Given the description of an element on the screen output the (x, y) to click on. 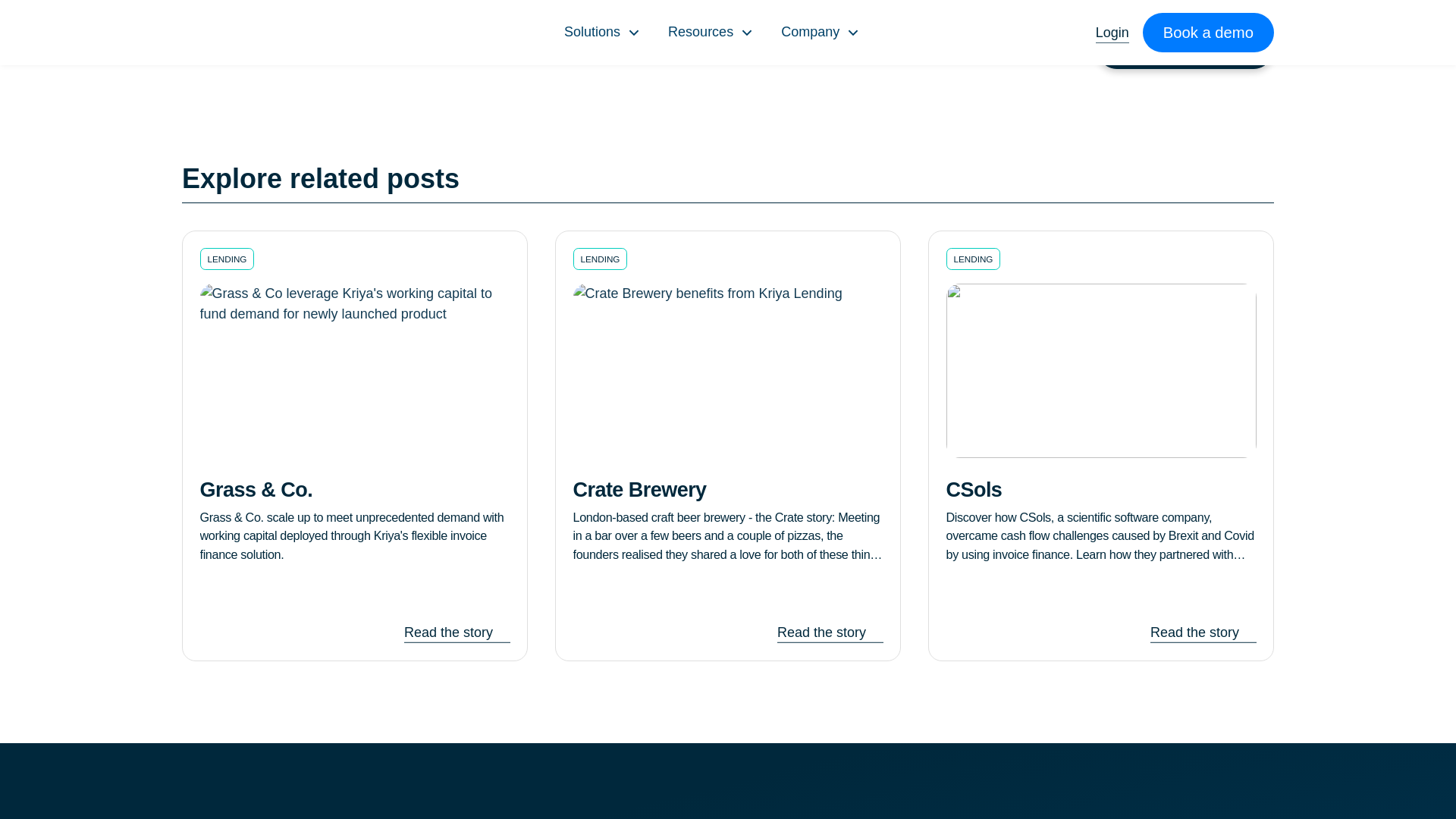
Crate Brewery (728, 489)
Submit (1185, 47)
Read the story (1203, 630)
Read the story (457, 630)
Submit (1185, 47)
CSols (1101, 489)
Read the story (830, 630)
